Given the description of an element on the screen output the (x, y) to click on. 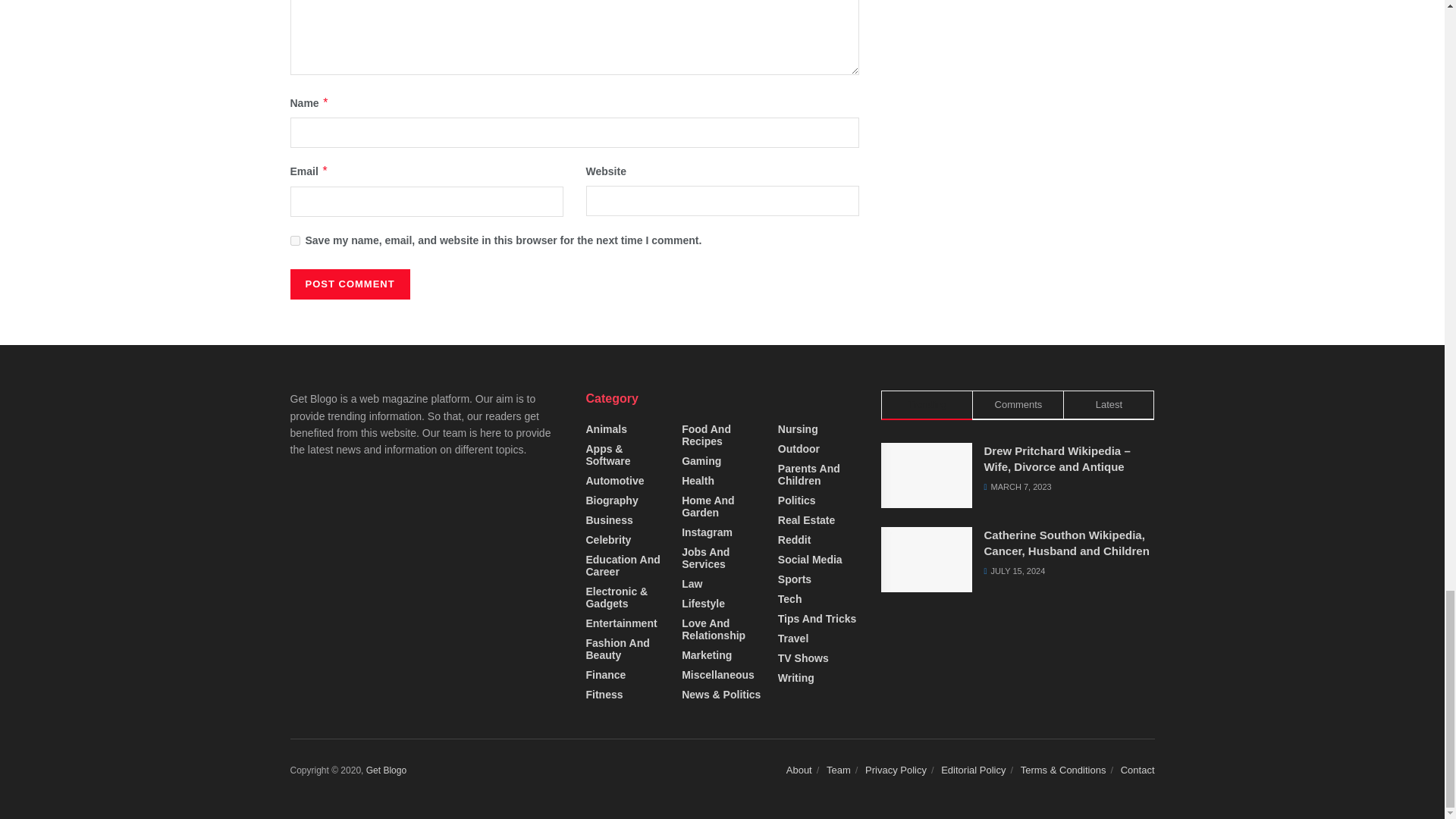
Post Comment (349, 284)
yes (294, 240)
